Given the description of an element on the screen output the (x, y) to click on. 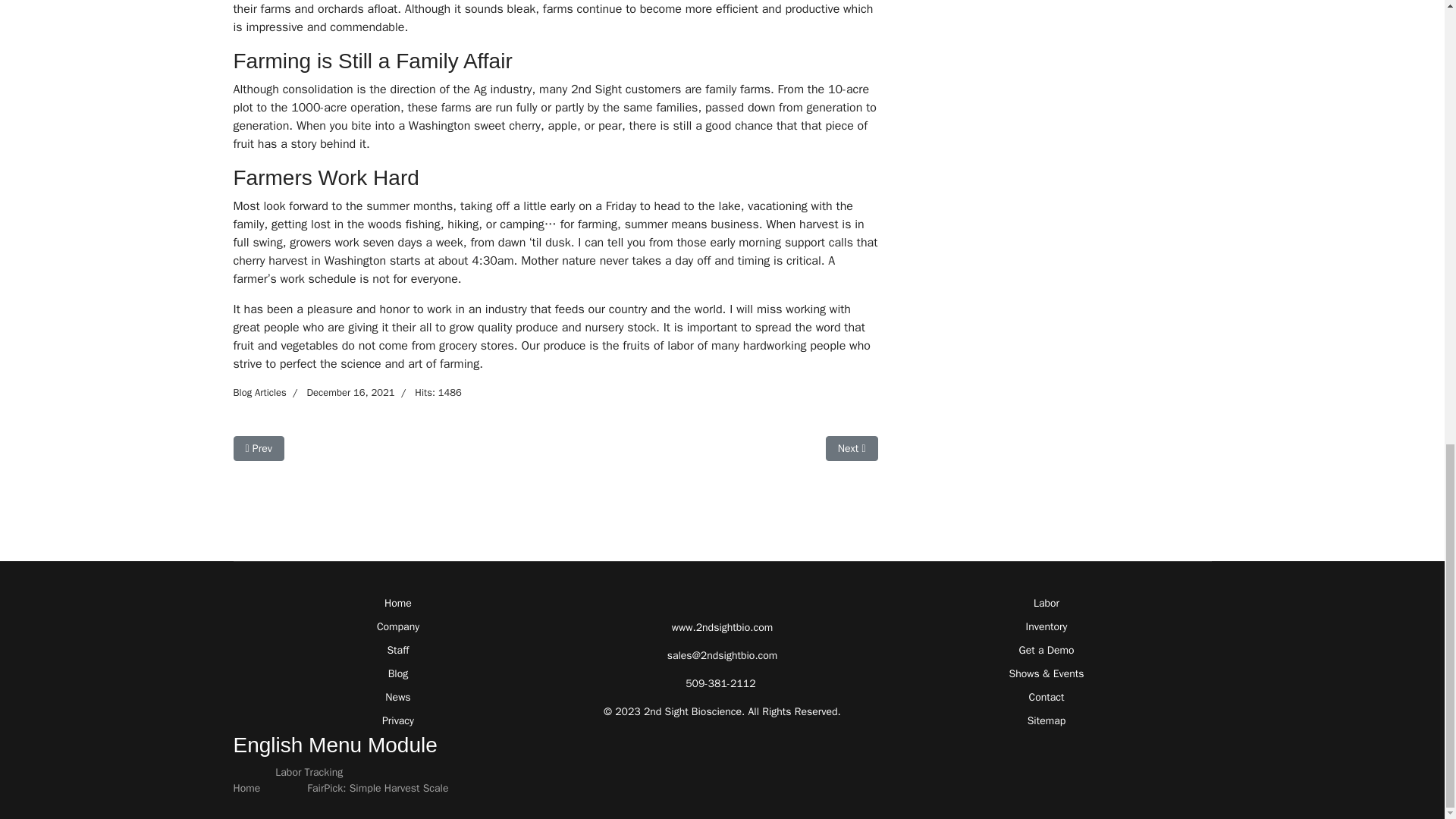
Blog Articles (257, 448)
Published: December 16, 2021 (259, 391)
Category: Blog Articles (340, 392)
